Given the description of an element on the screen output the (x, y) to click on. 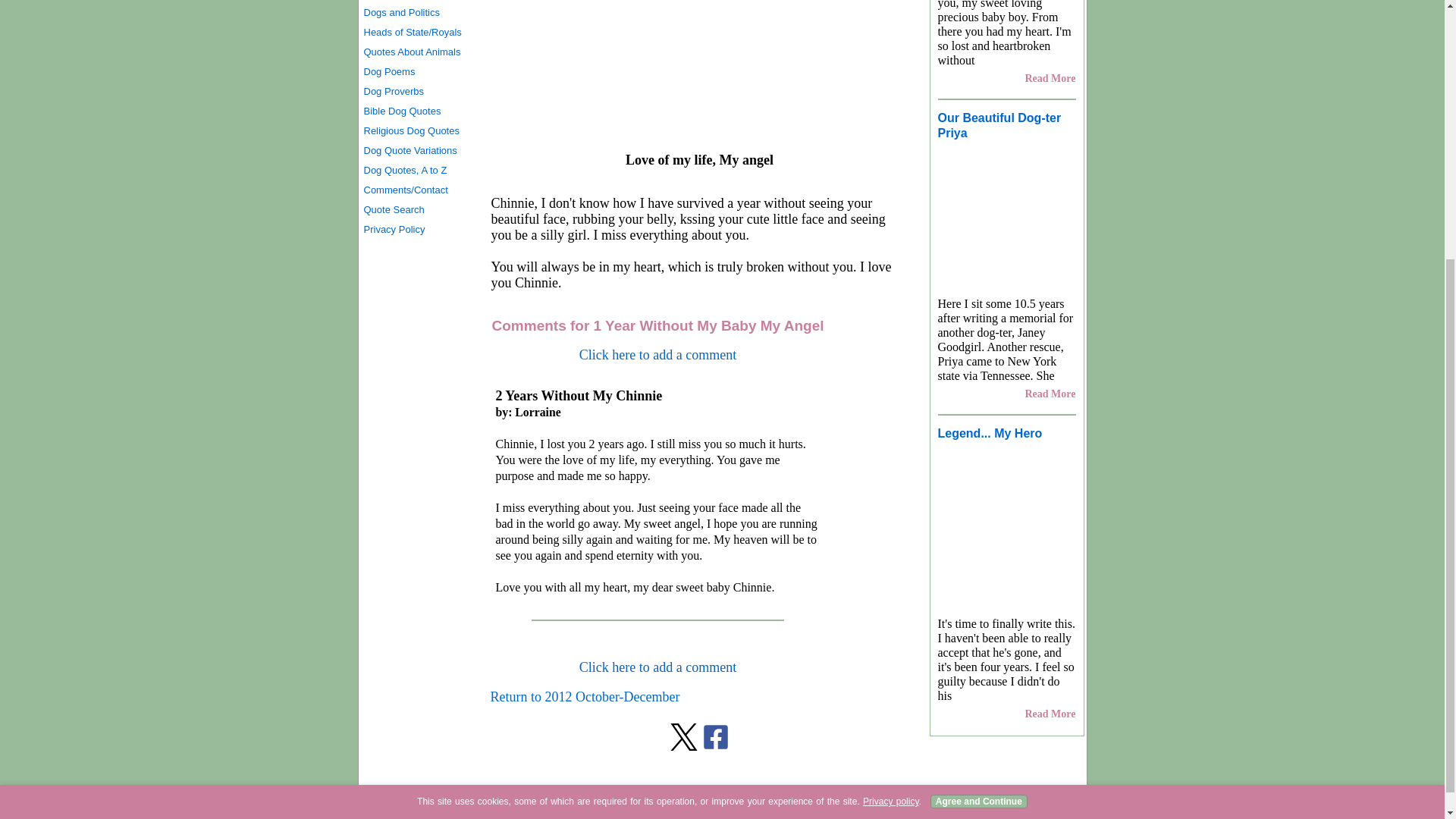
Love of my life, My angel (698, 67)
Quote Search (419, 209)
Religious Dog Quotes (419, 130)
Dog Quote Variations (419, 150)
Bible Dog Quotes (419, 111)
Dog Proverbs (419, 91)
Dogs and Politics (419, 12)
Dog Poems (419, 71)
Privacy Policy (419, 229)
Dog Quotes, A to Z (419, 170)
Quotes About Animals (419, 52)
Click here to add a comment (657, 354)
Read More (1050, 78)
Funny Dog Quotes (419, 1)
Click here to add a comment (657, 667)
